Given the description of an element on the screen output the (x, y) to click on. 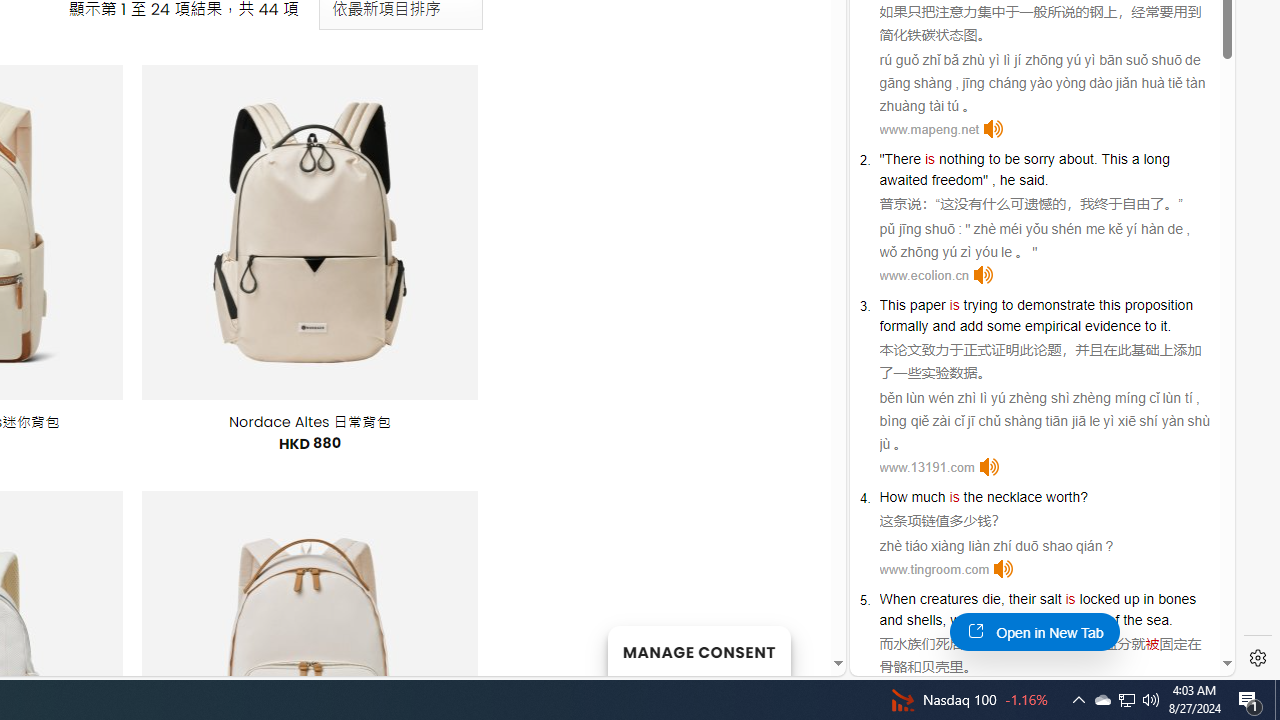
a (1135, 159)
MANAGE CONSENT (698, 650)
salt (1050, 598)
the (973, 496)
www.13191.com (927, 467)
empirical (1053, 326)
, (944, 619)
